Given the description of an element on the screen output the (x, y) to click on. 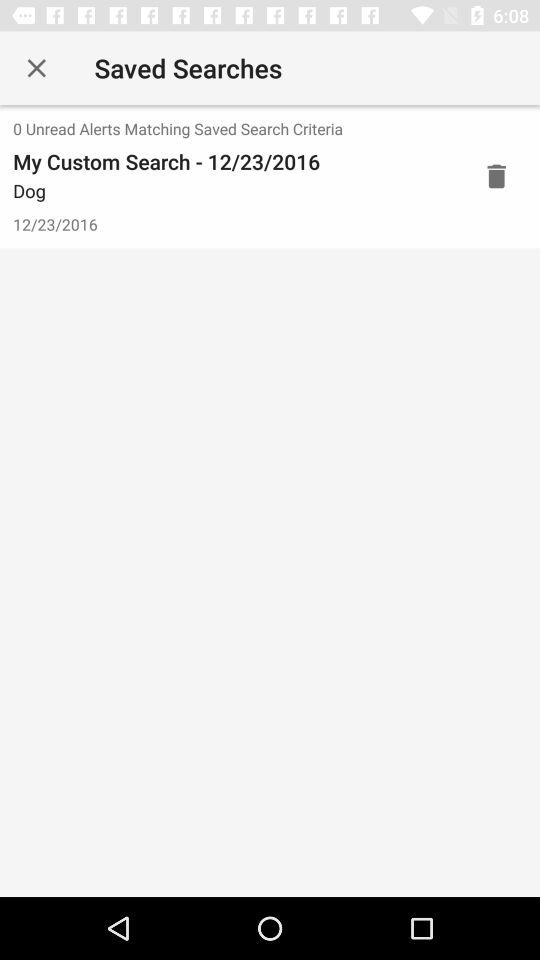
select the item next to the saved searches icon (36, 68)
